Given the description of an element on the screen output the (x, y) to click on. 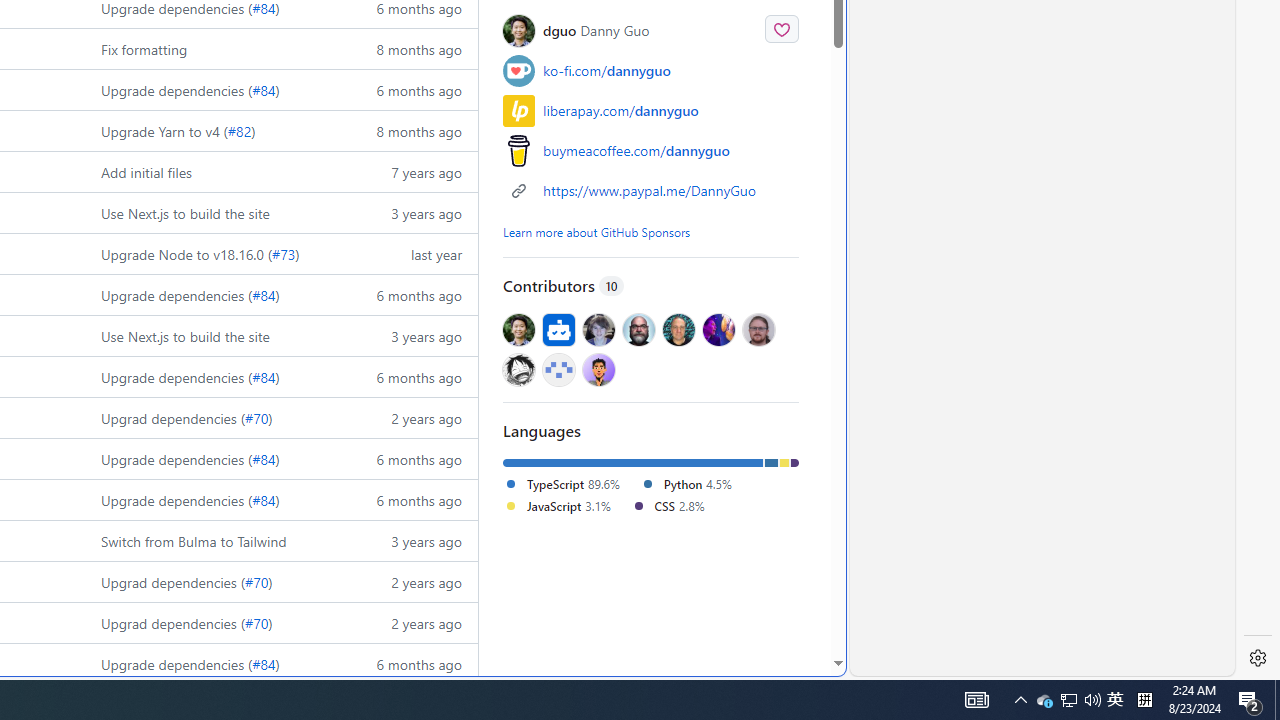
ko-fi.com/dannyguo (606, 70)
@sy-records (519, 368)
Class: mb-2 mr-2 (598, 368)
buymeacoffee.com/dannyguo (635, 151)
CSS2.8% (674, 506)
Switch from Bulma to Tailwind (212, 539)
Use Next.js to build the site (185, 336)
#84 (264, 663)
Switch from Bulma to Tailwind (193, 540)
@aranciokov (758, 329)
7 years ago (409, 171)
TypeScript 89.6% (561, 483)
Upgrade dependencies (#84) (212, 663)
